Given the description of an element on the screen output the (x, y) to click on. 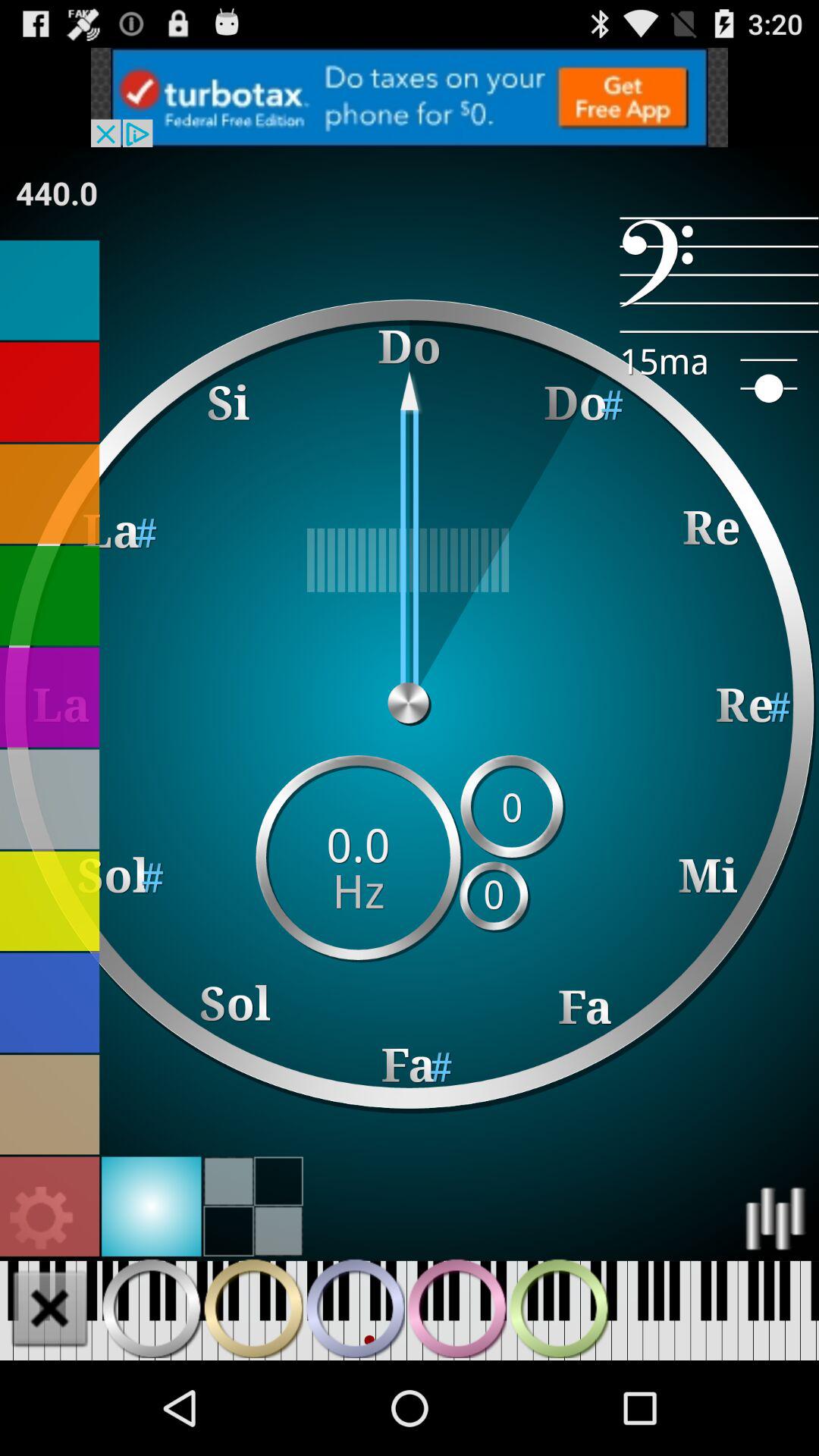
shows piano buttons (354, 1308)
